Given the description of an element on the screen output the (x, y) to click on. 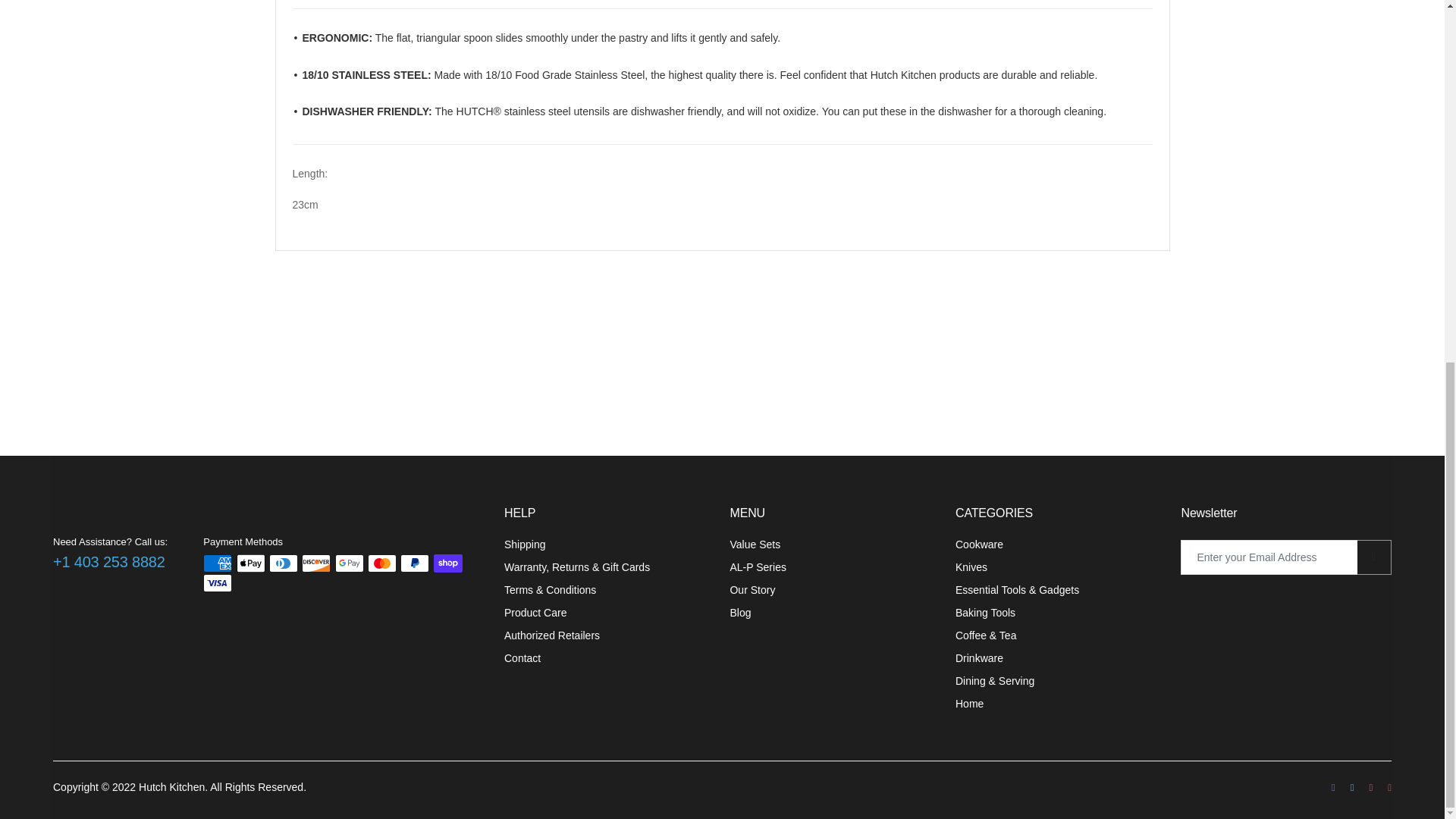
Google Pay (349, 563)
Visa (217, 583)
Apple Pay (249, 563)
Shop Pay (448, 563)
Discover (315, 563)
PayPal (414, 563)
Diners Club (283, 563)
American Express (217, 563)
Mastercard (382, 563)
